Given the description of an element on the screen output the (x, y) to click on. 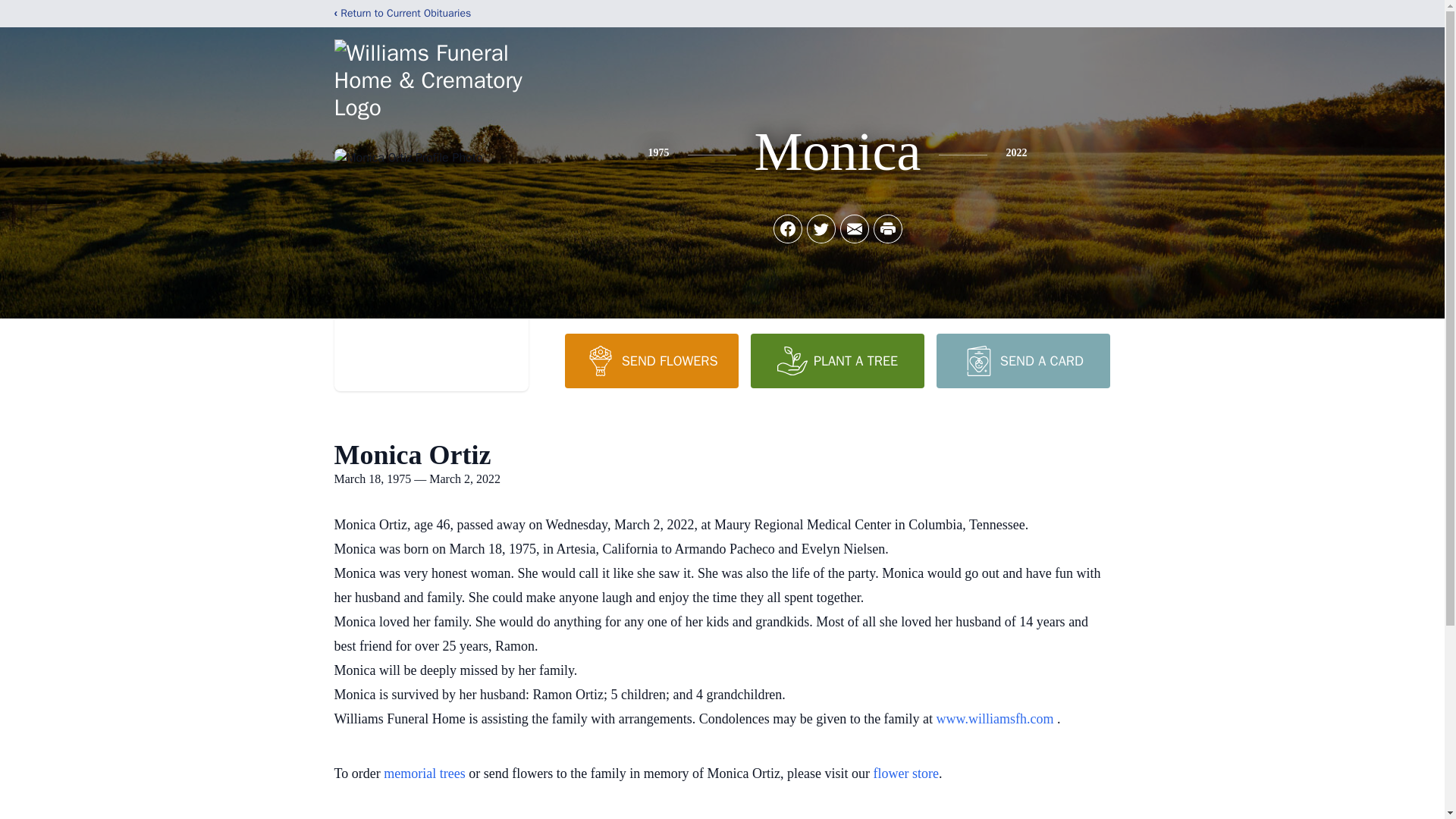
SEND A CARD (1022, 360)
flower store (906, 773)
www.williamsfh.com (996, 718)
PLANT A TREE (837, 360)
memorial trees (424, 773)
SEND FLOWERS (651, 360)
Click to open in a new window or tab (996, 718)
